Given the description of an element on the screen output the (x, y) to click on. 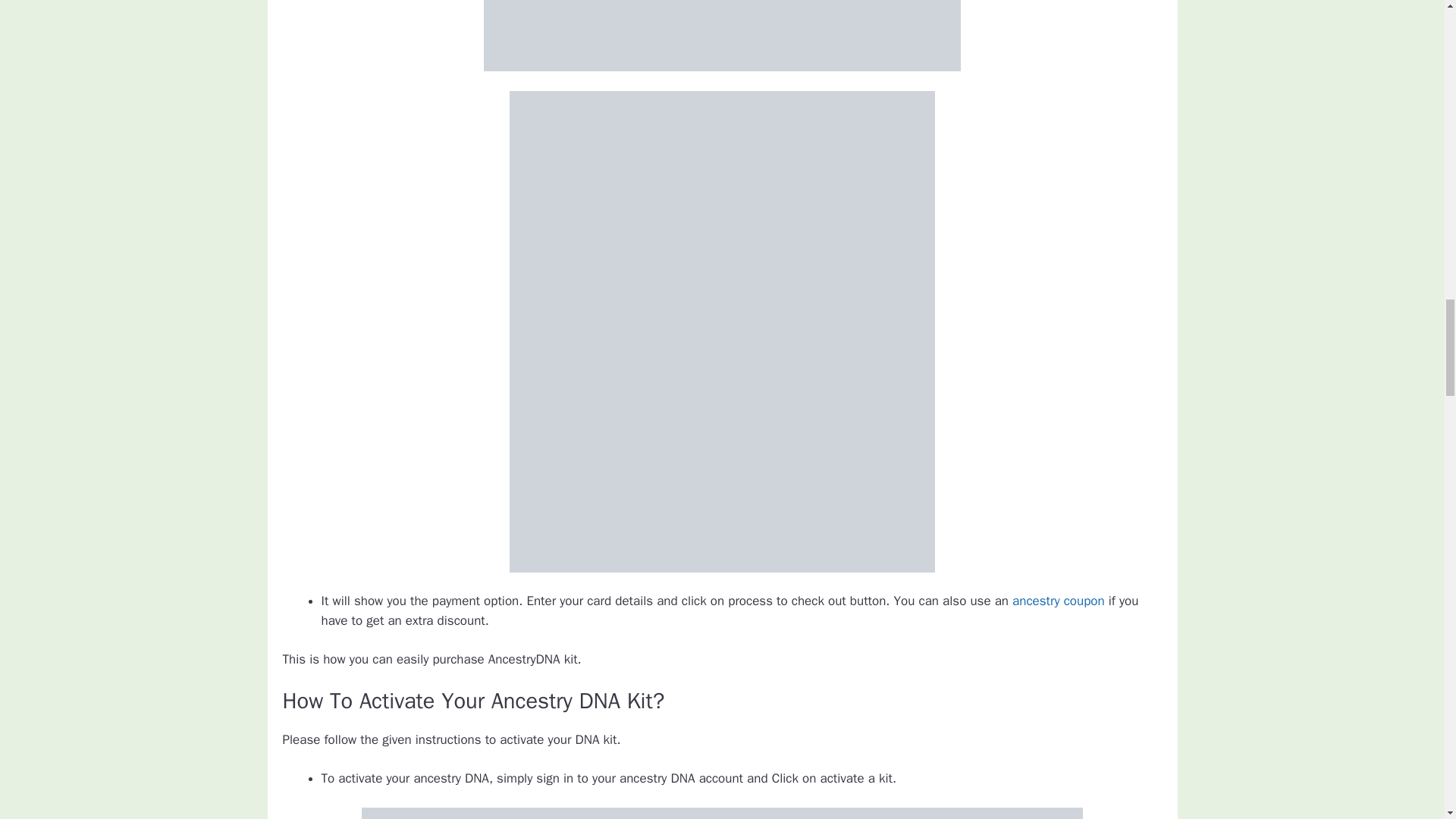
ancestry coupon (1058, 600)
